Given the description of an element on the screen output the (x, y) to click on. 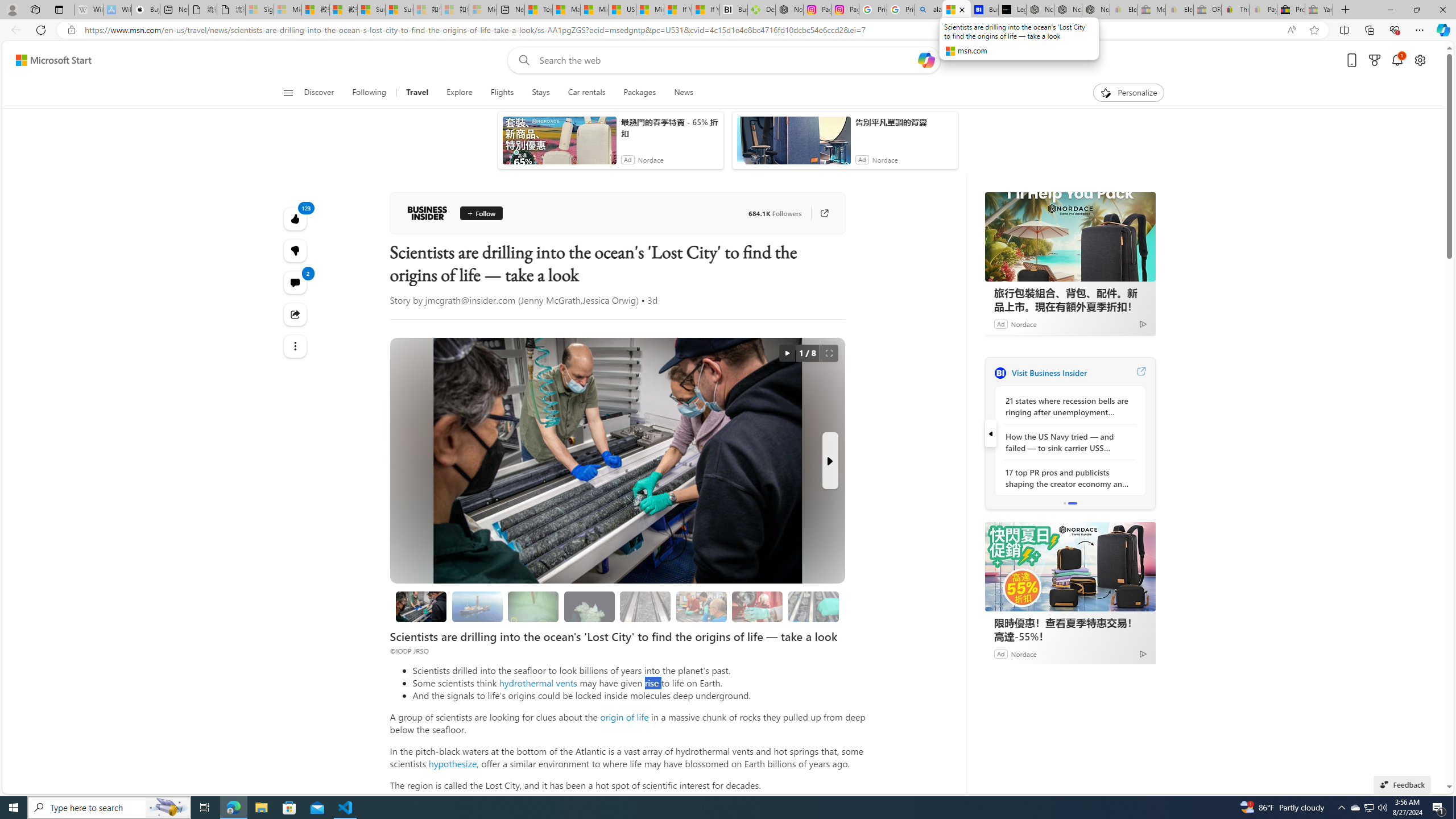
Stays (540, 92)
Stays (540, 92)
Researchers are still studying the samples (812, 606)
previous (989, 433)
View comments 2 Comment (295, 282)
